Given the description of an element on the screen output the (x, y) to click on. 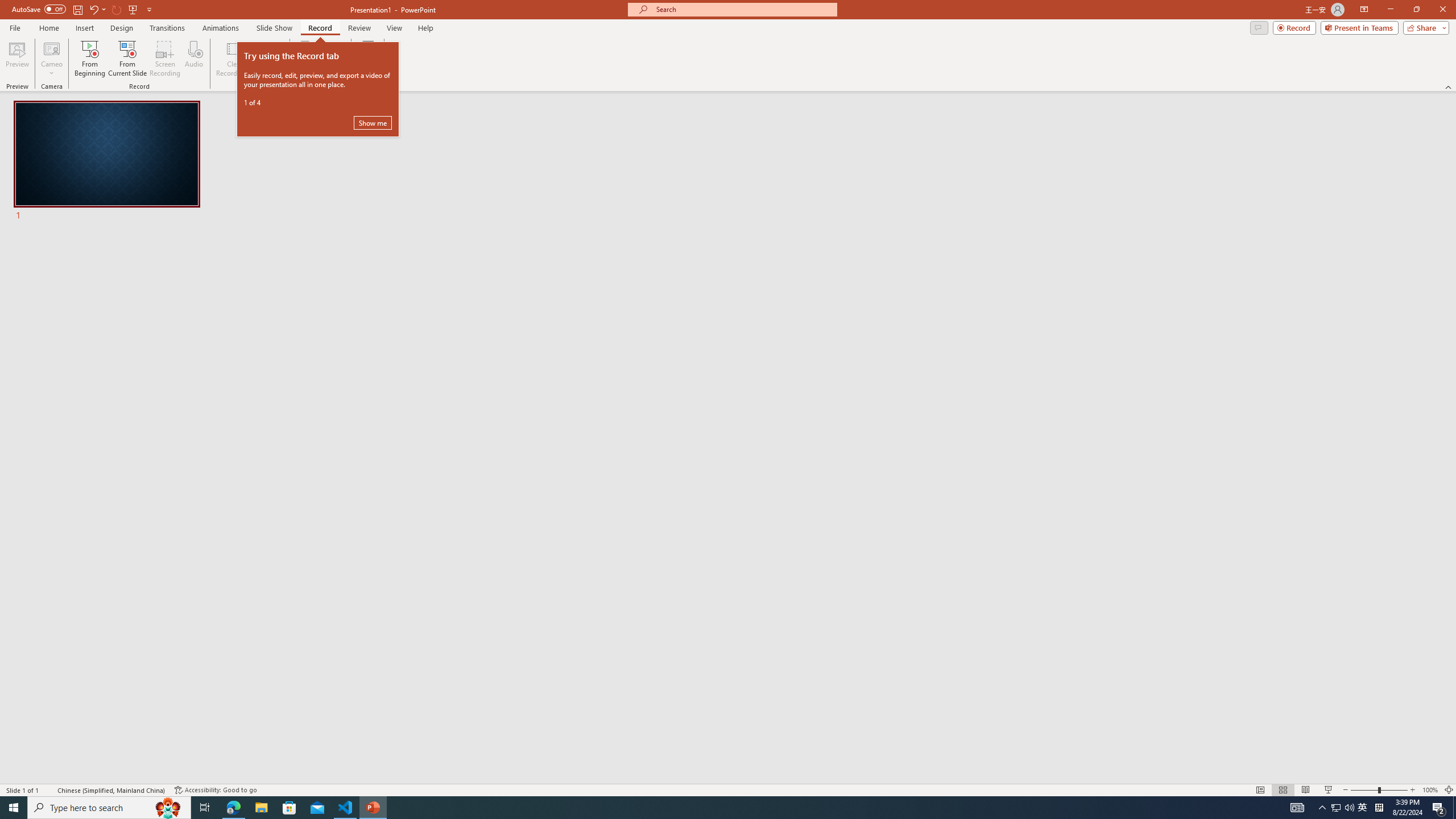
Accessibility Checker Accessibility: Good to go (216, 790)
Save as Show (306, 58)
